Given the description of an element on the screen output the (x, y) to click on. 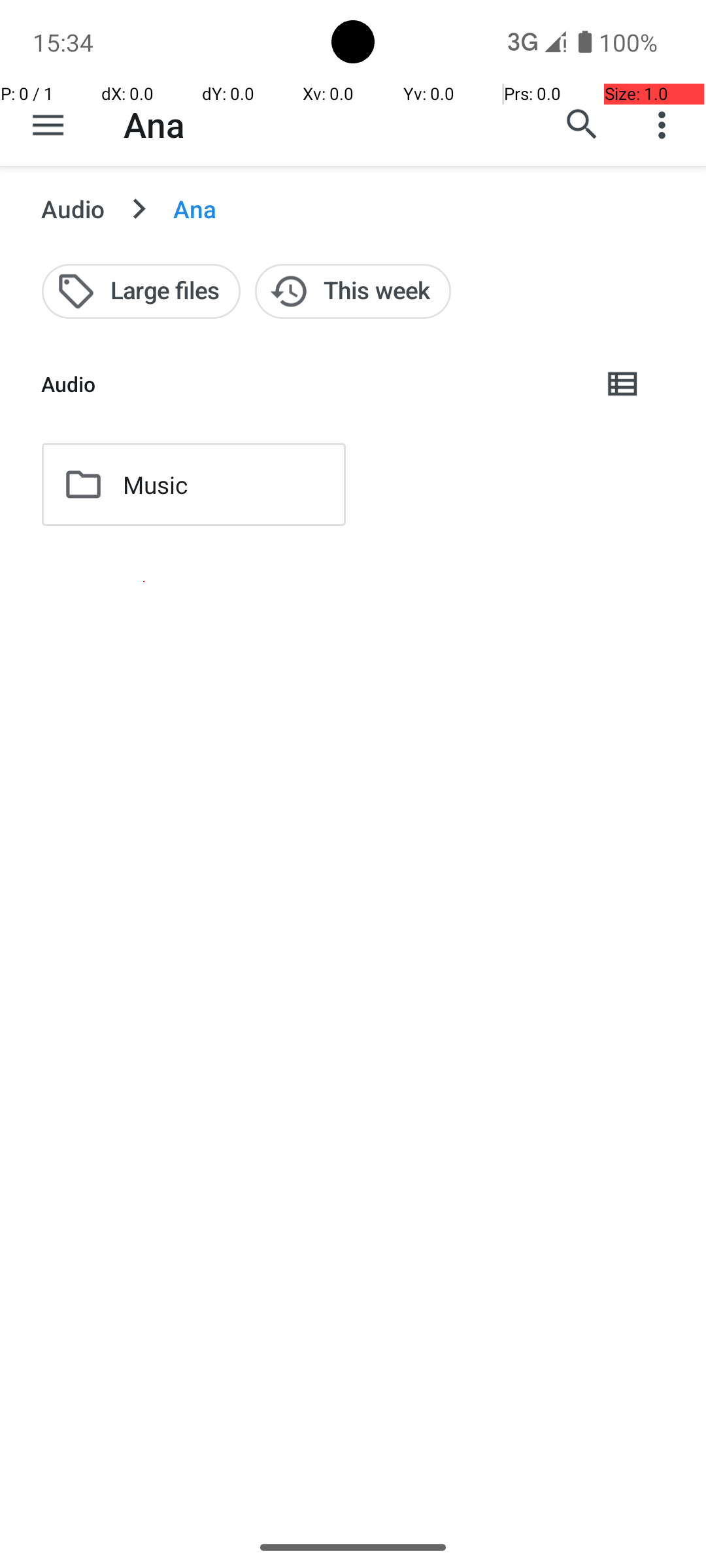
Ana Element type: android.widget.TextView (153, 124)
